Given the description of an element on the screen output the (x, y) to click on. 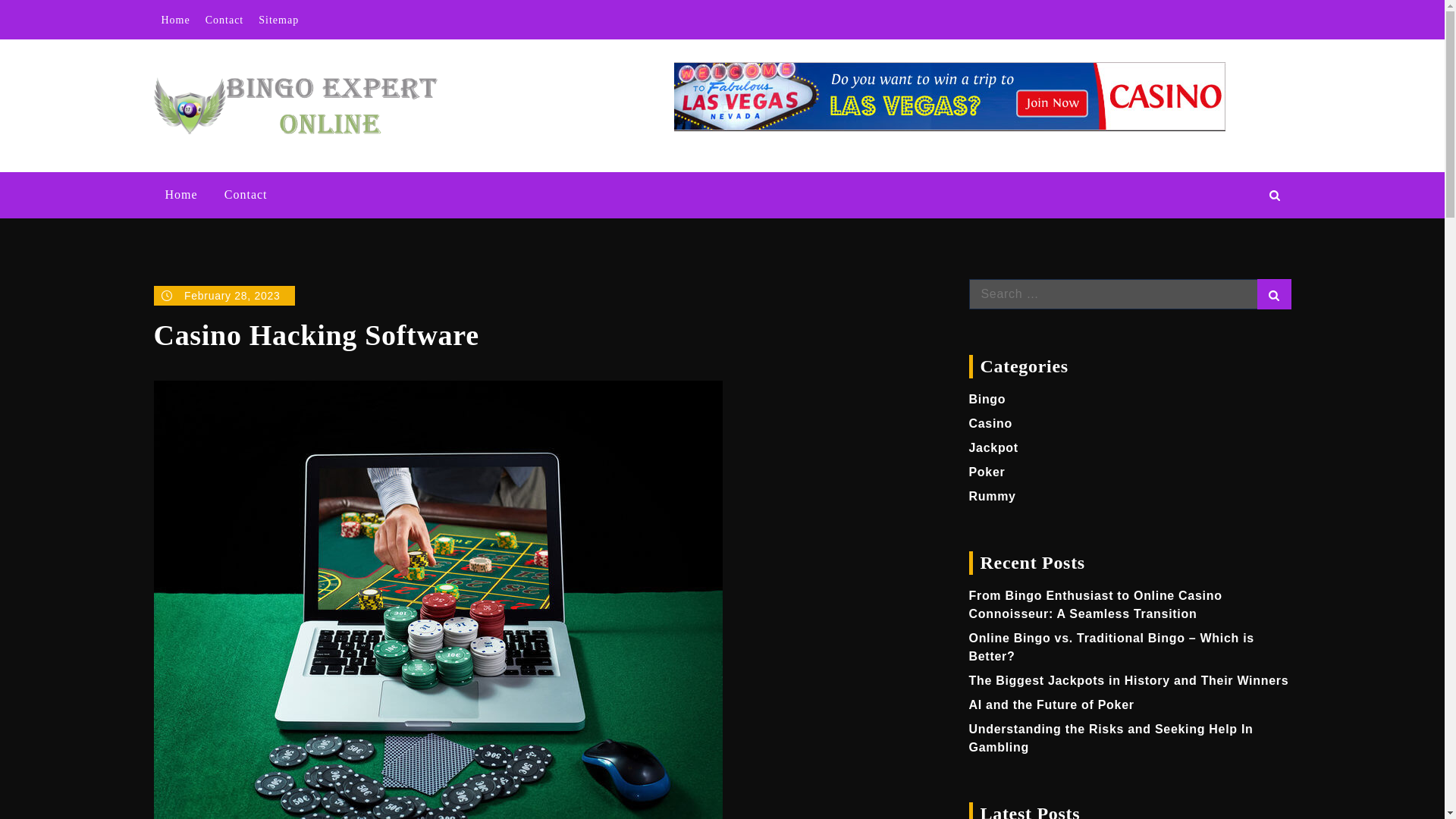
Search (1274, 294)
Bingo (987, 399)
Bingo Expert Online (561, 91)
Casino (991, 422)
Jackpot (993, 447)
Home (174, 19)
Contact (224, 19)
February 28, 2023 (223, 295)
Sitemap (277, 19)
Home (180, 194)
